Given the description of an element on the screen output the (x, y) to click on. 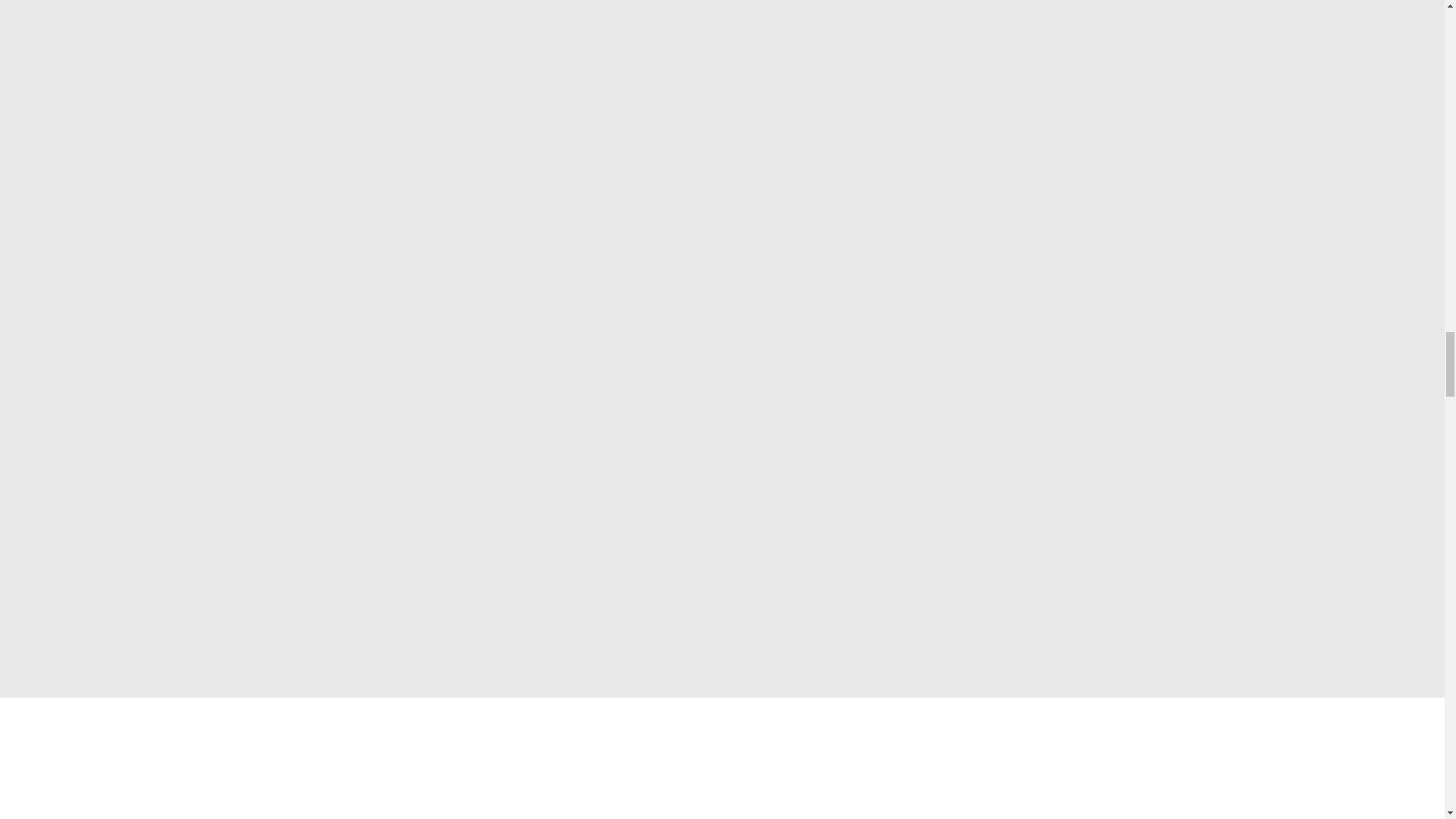
Listen below and subscribe (597, 254)
